Given the description of an element on the screen output the (x, y) to click on. 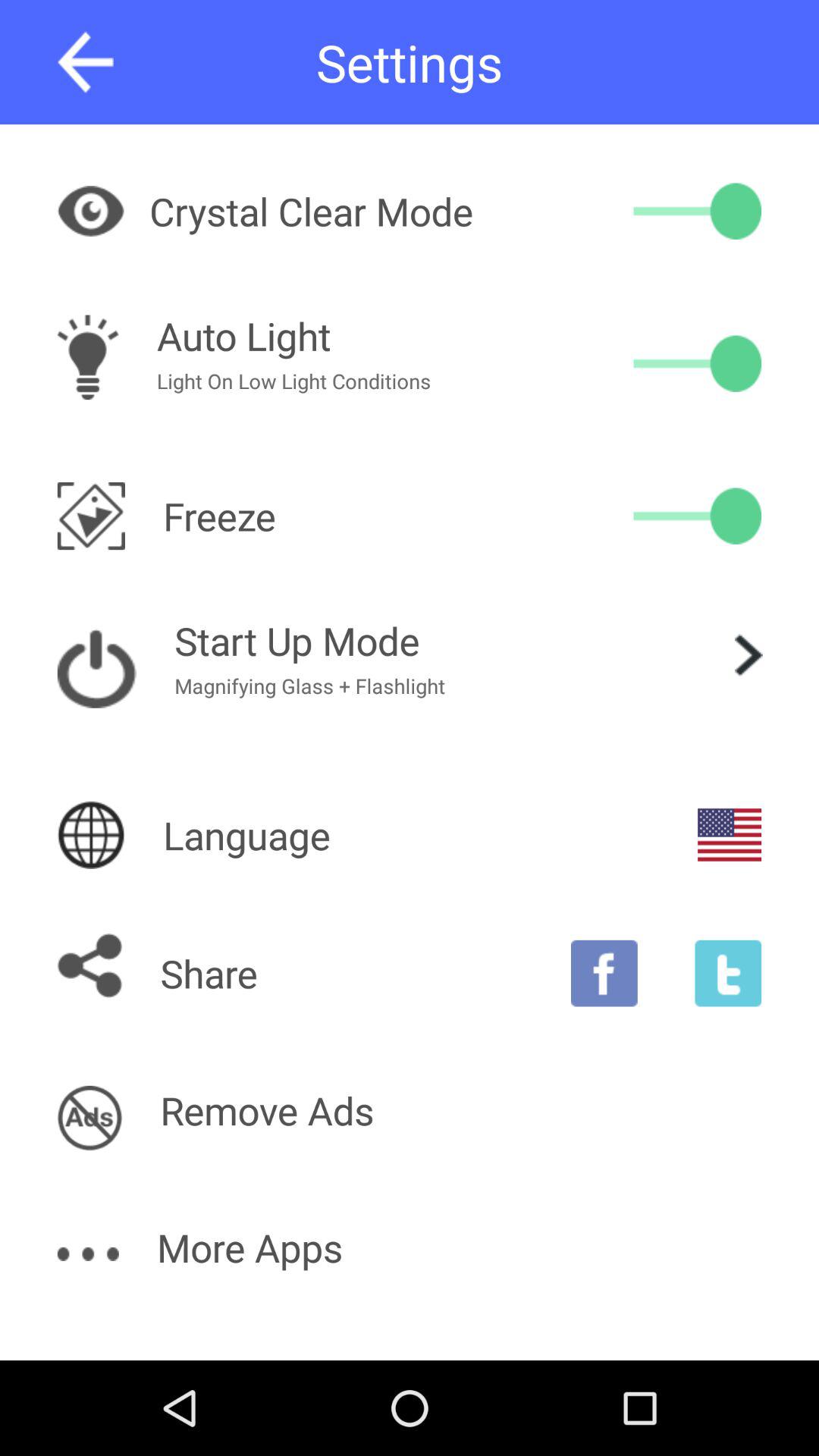
turn screen rotation off (697, 515)
